Given the description of an element on the screen output the (x, y) to click on. 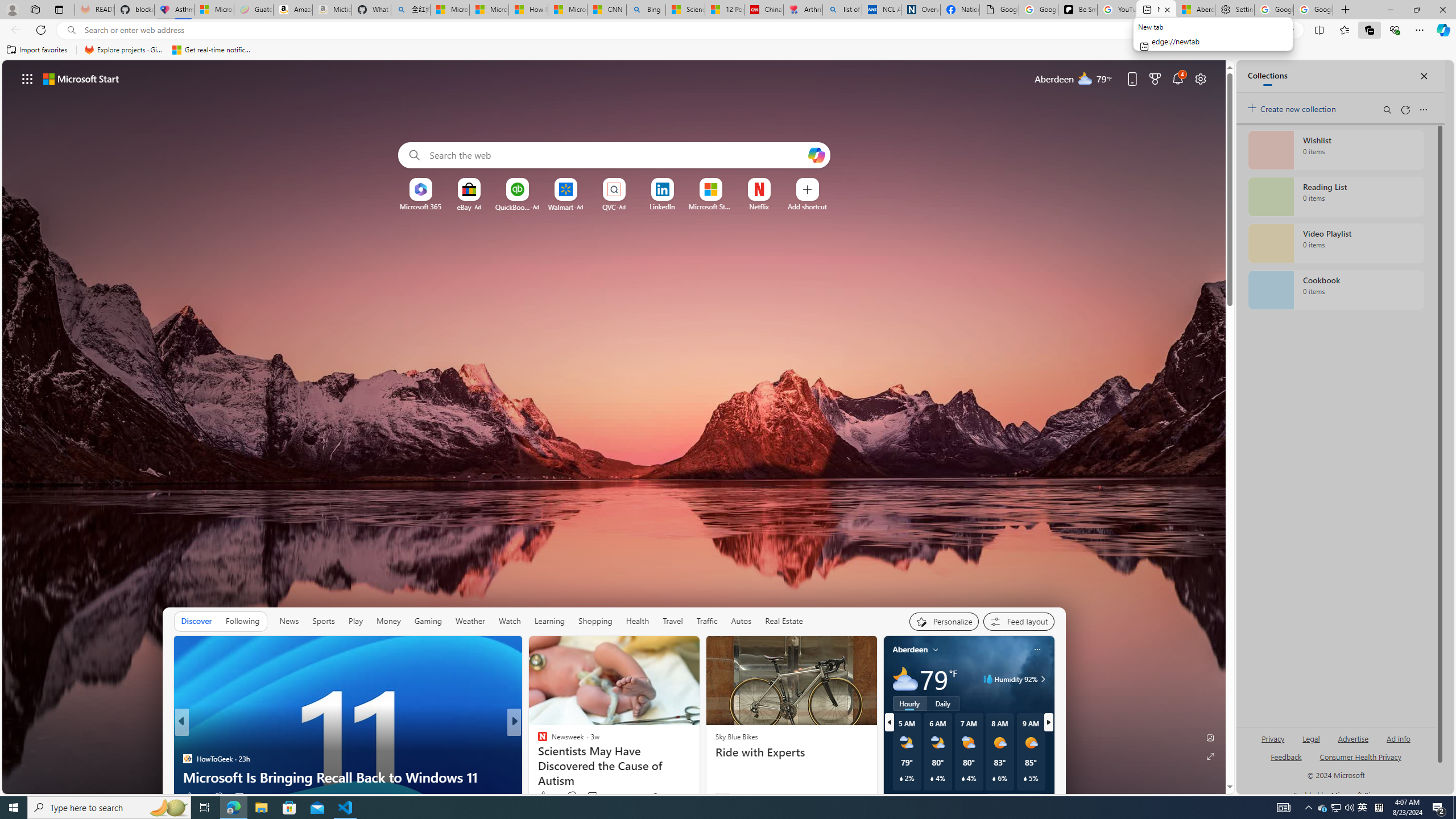
68 Like (543, 796)
View comments 62 Comment (589, 797)
Be Smart | creating Science videos | Patreon (1077, 9)
